Given the description of an element on the screen output the (x, y) to click on. 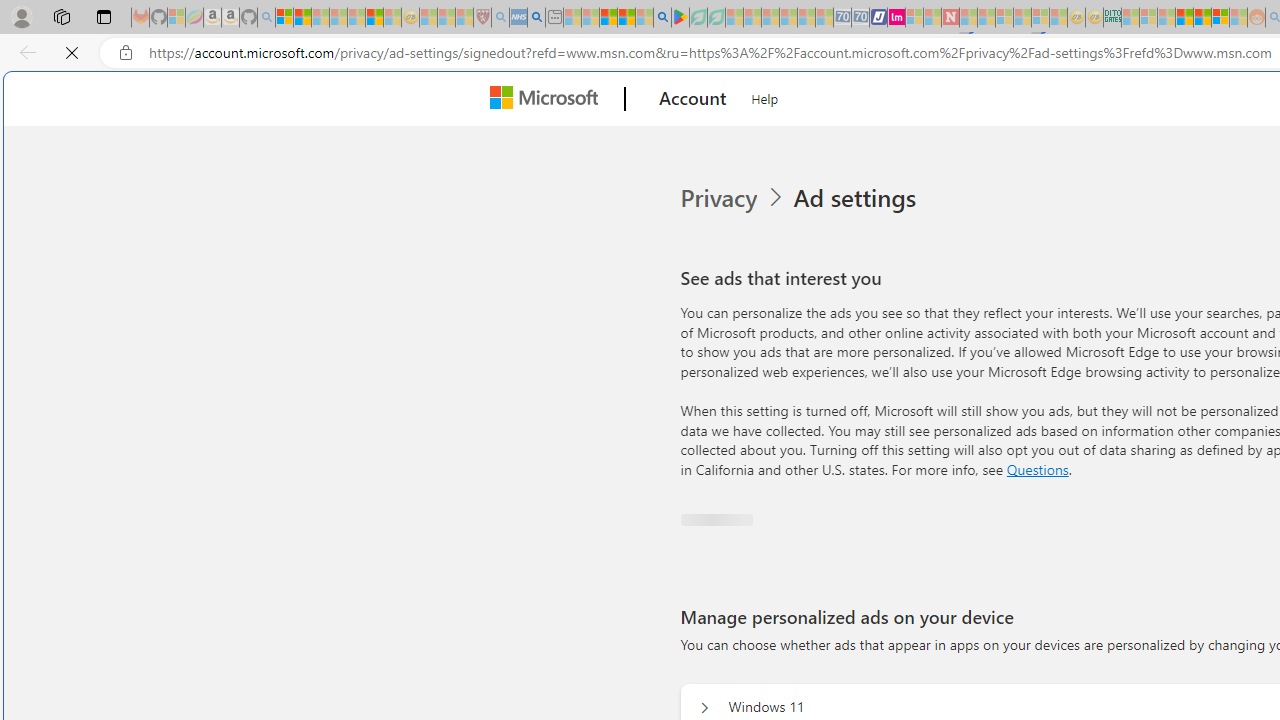
Local - MSN - Sleeping (464, 17)
utah sues federal government - Search (536, 17)
Jobs - lastminute.com Investor Portal (896, 17)
14 Common Myths Debunked By Scientific Facts - Sleeping (985, 17)
Cheap Hotels - Save70.com - Sleeping (860, 17)
